Given the description of an element on the screen output the (x, y) to click on. 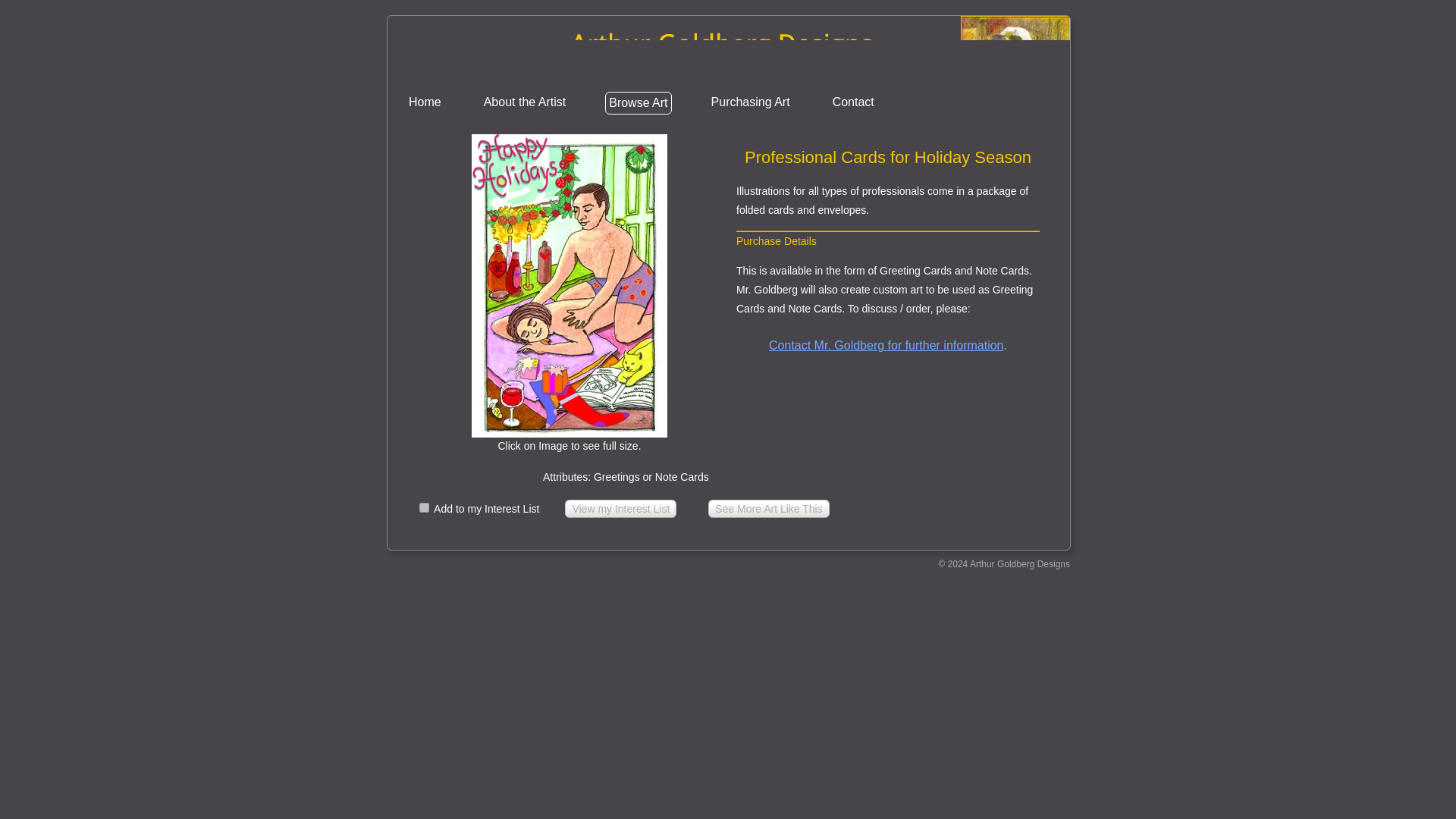
See More Art Like This (767, 508)
Greetings or Note Cards (767, 508)
About the Artist (524, 102)
Home (425, 102)
View my Interest List (620, 508)
Contact Mr. Goldberg for further information. (887, 345)
Contact (853, 102)
on (424, 507)
Purchasing Art (750, 102)
Browse Art (638, 102)
